Given the description of an element on the screen output the (x, y) to click on. 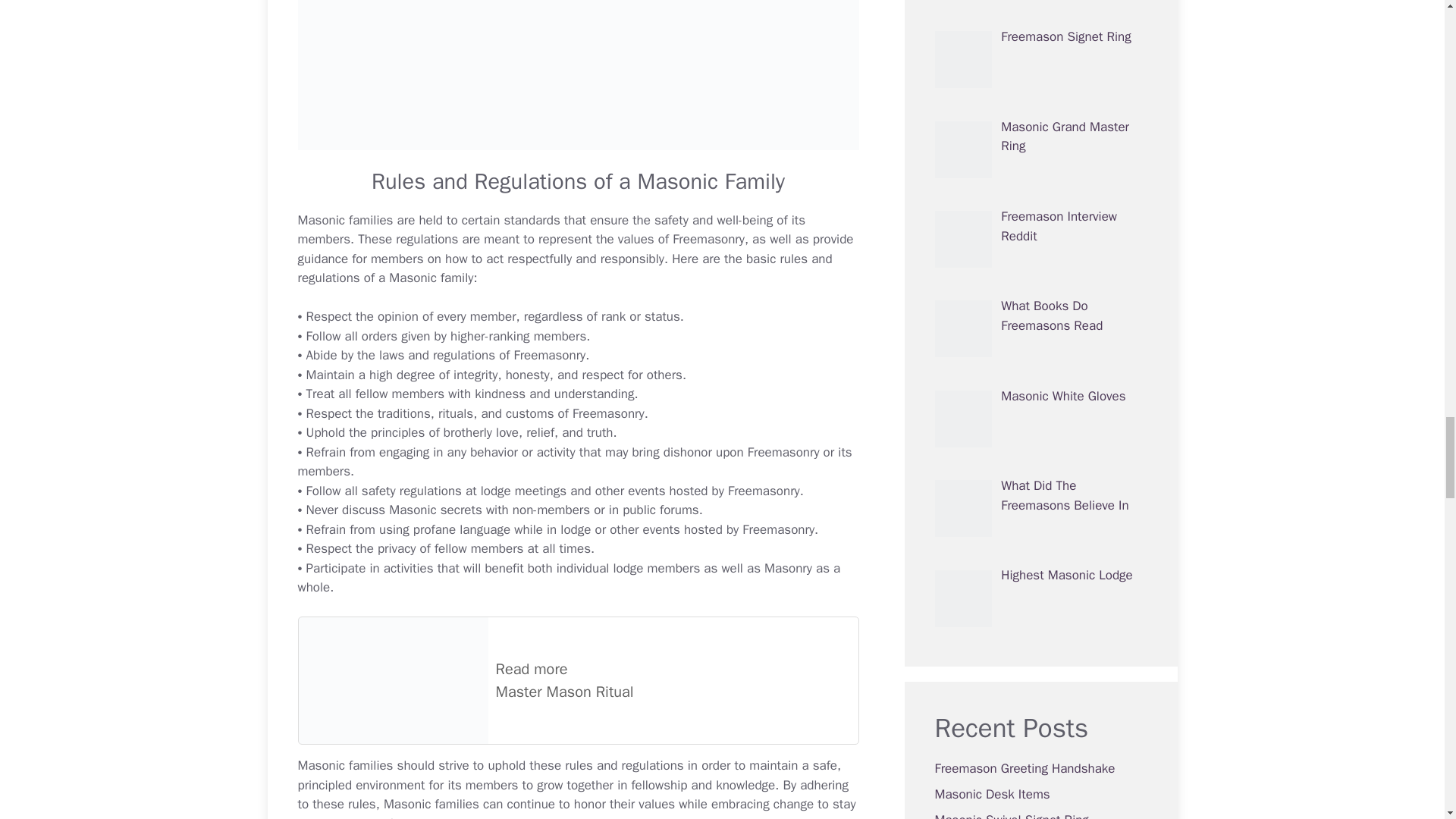
Masonic secrets (434, 509)
